Given the description of an element on the screen output the (x, y) to click on. 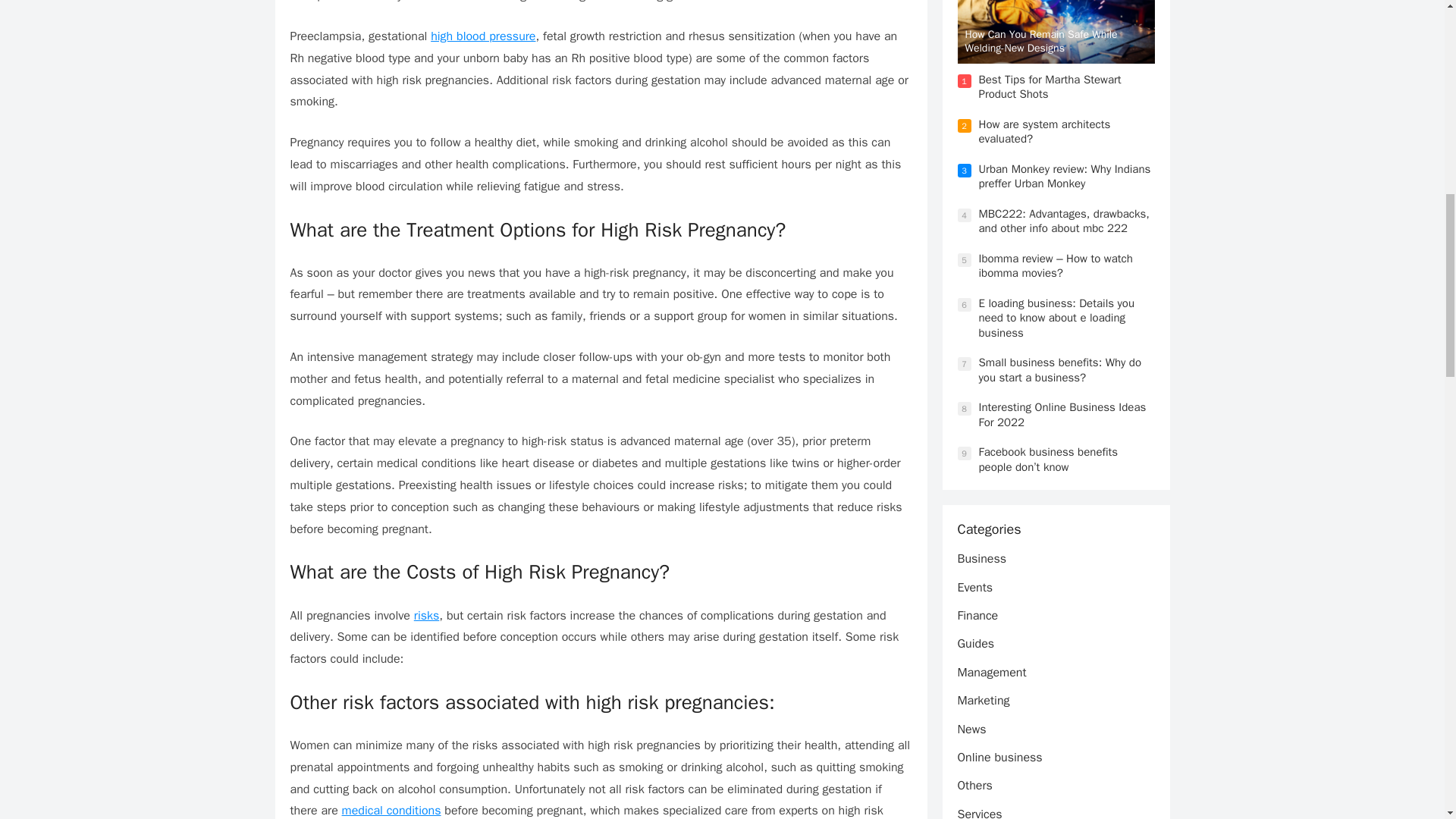
high blood pressure (482, 36)
risks (426, 615)
medical conditions (391, 810)
